Given the description of an element on the screen output the (x, y) to click on. 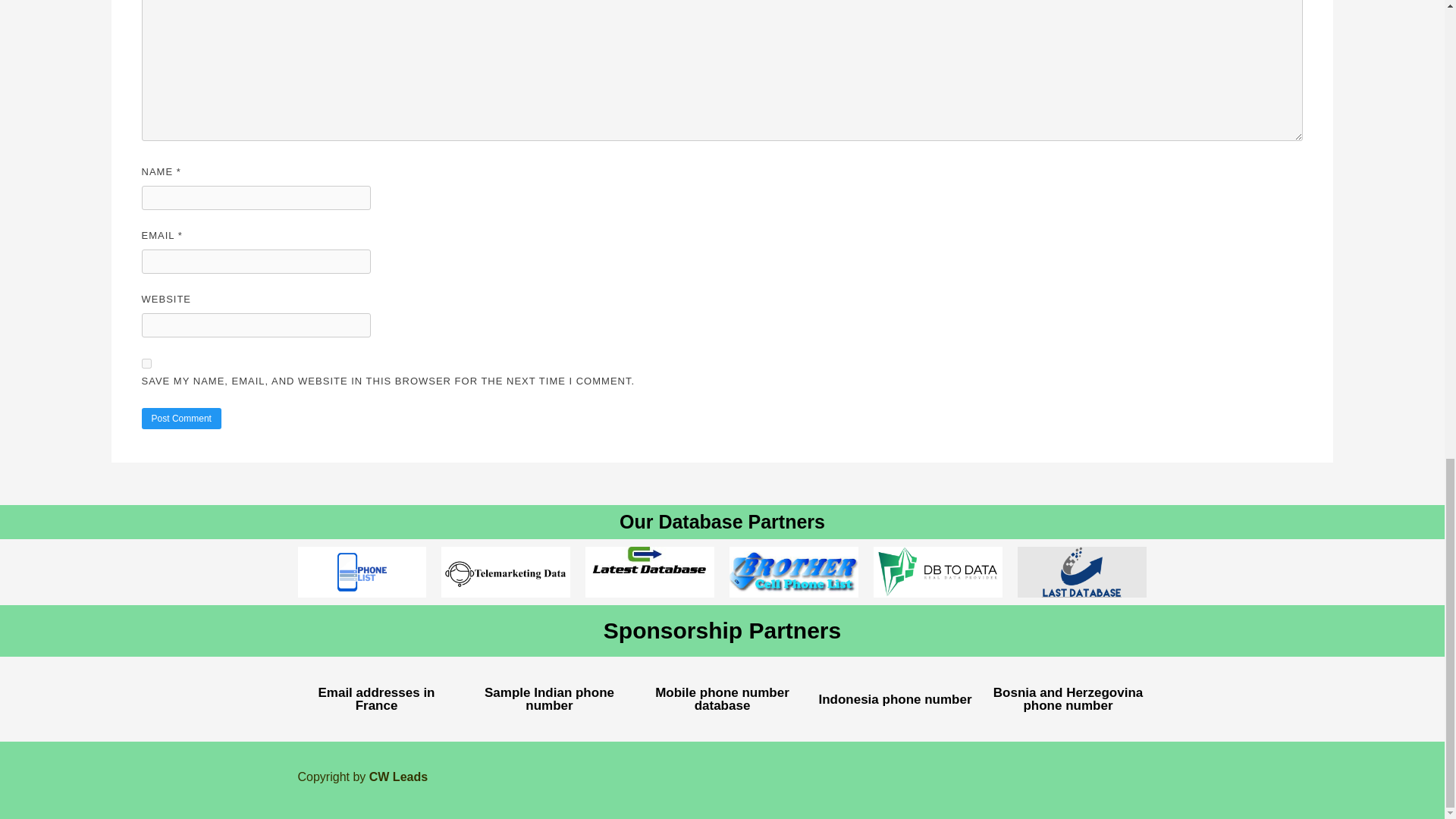
Email addresses in France (375, 698)
CW Leads (398, 776)
yes (146, 363)
Post Comment (181, 418)
Bosnia and Herzegovina phone number (1067, 698)
Indonesia phone number (894, 699)
Mobile phone number database (722, 698)
Sample Indian phone number (549, 698)
Post Comment (181, 418)
